Given the description of an element on the screen output the (x, y) to click on. 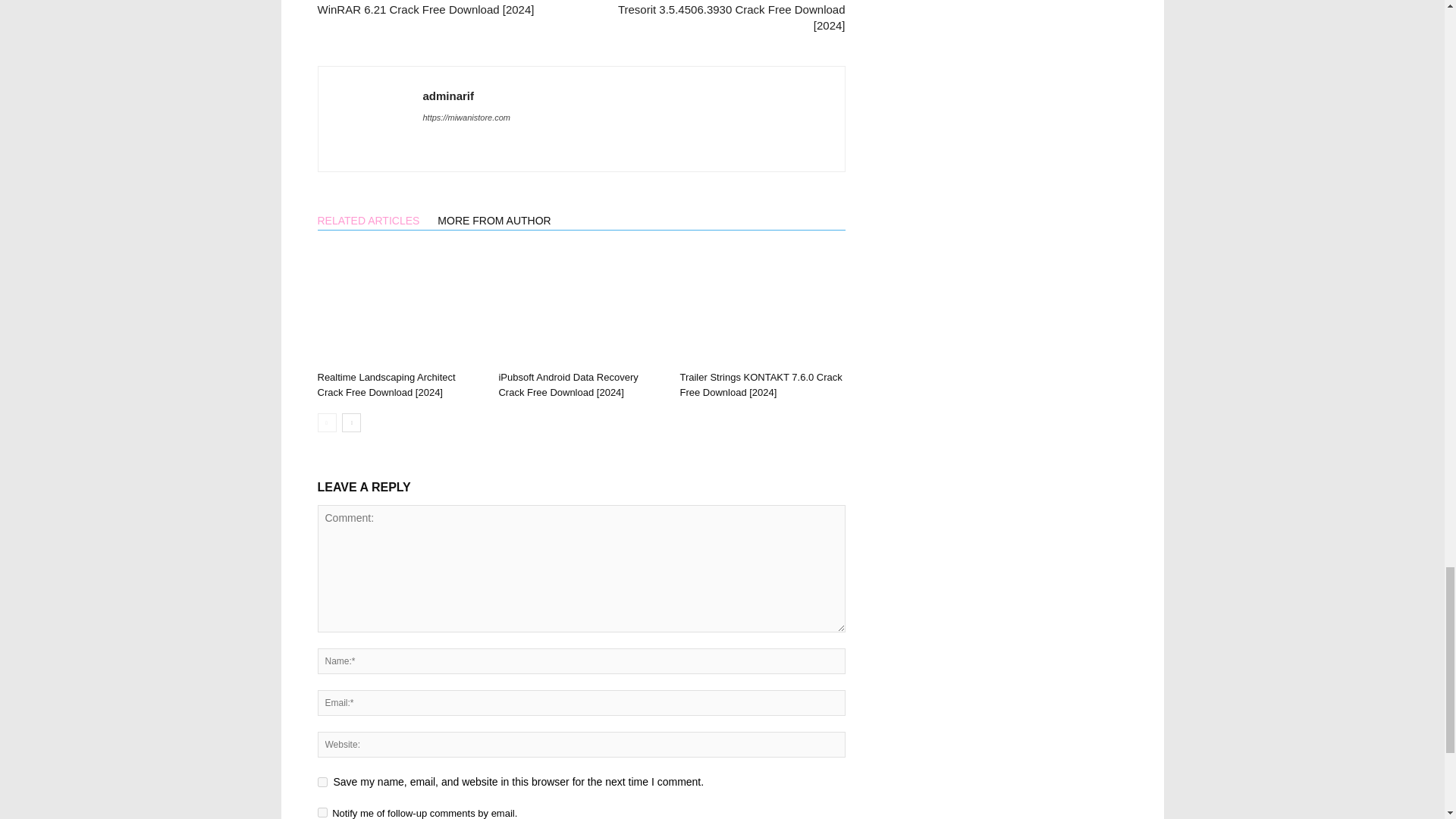
subscribe (321, 812)
yes (321, 782)
